Given the description of an element on the screen output the (x, y) to click on. 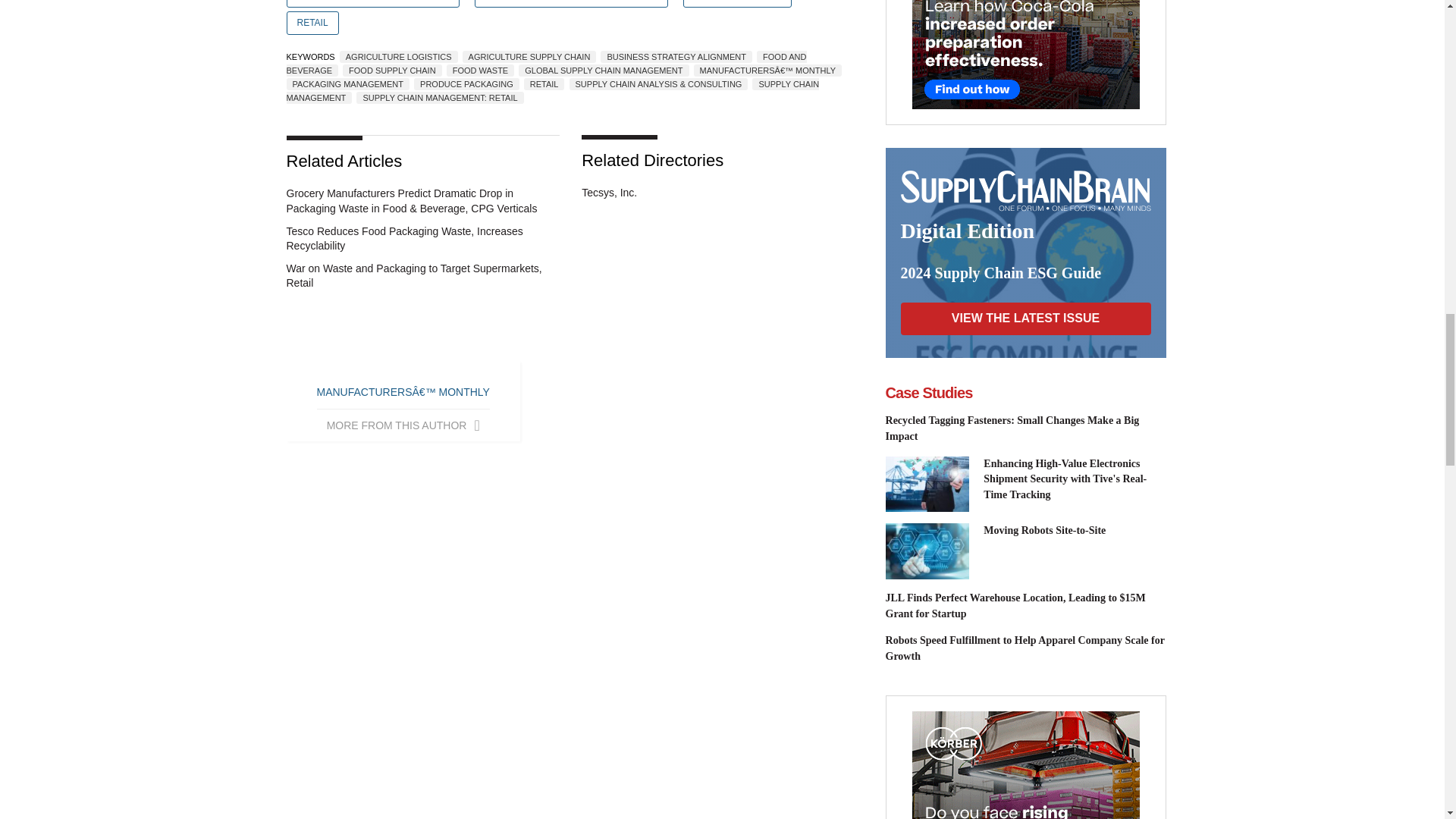
P66 EXOTEC.jpg (927, 551)
P65 TIVE.jpg (927, 484)
